Given the description of an element on the screen output the (x, y) to click on. 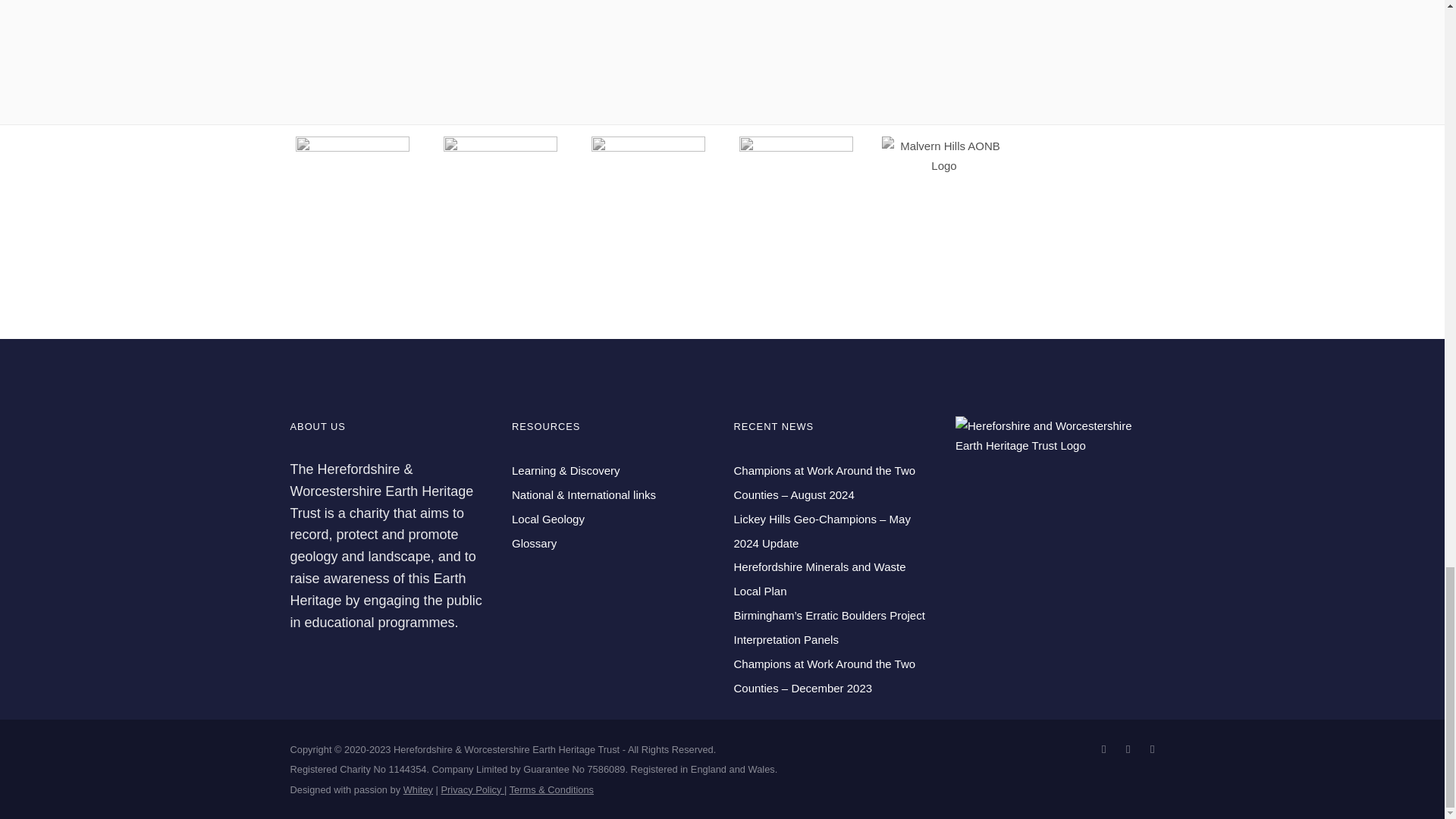
malvern-hills-aonb (943, 155)
herefordshire-council (796, 193)
worcestershire-county-council-logo (647, 193)
university-worcester-logo (500, 193)
national-heritage-fund (352, 193)
